Given the description of an element on the screen output the (x, y) to click on. 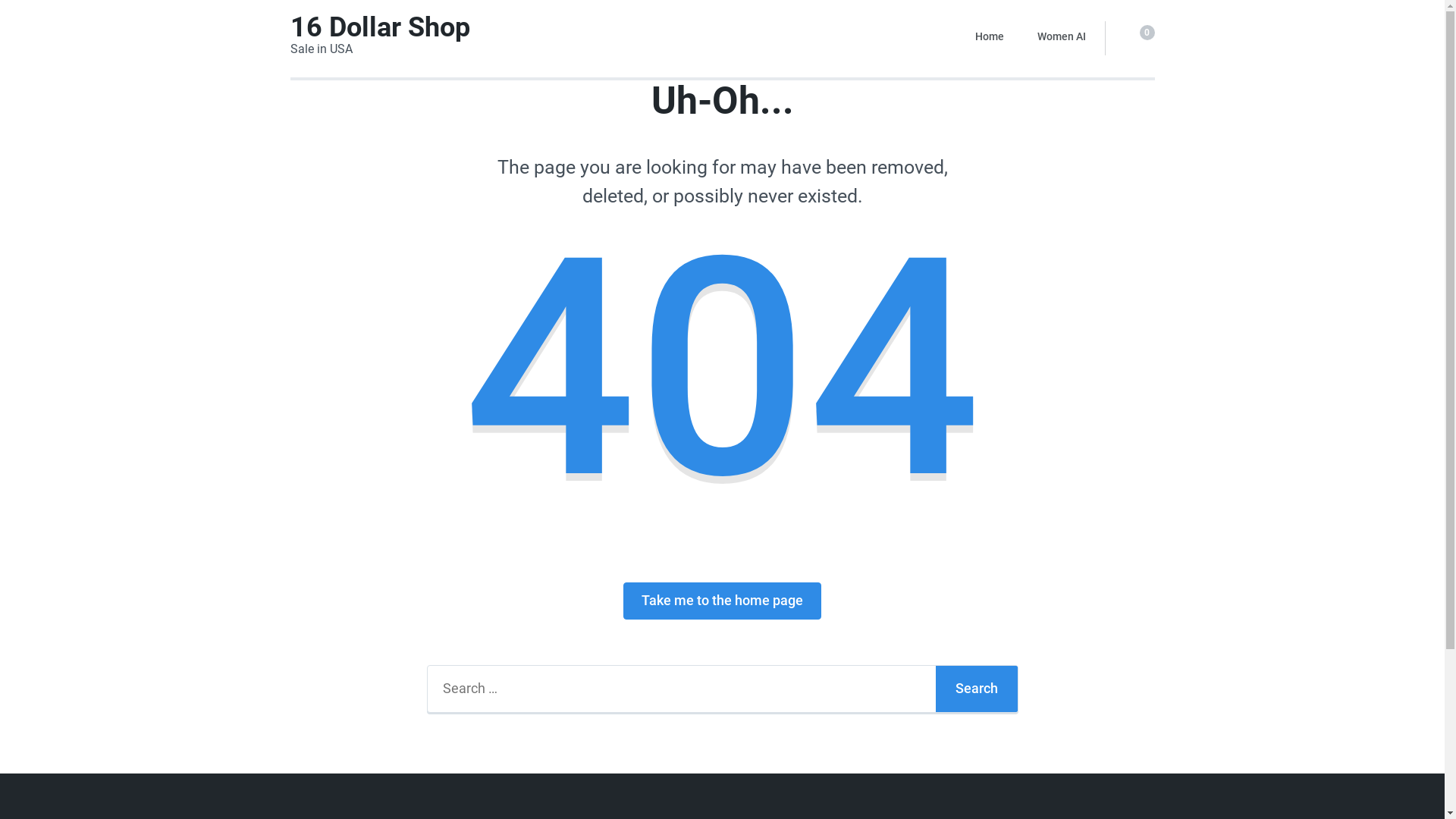
Women AI Element type: text (1061, 36)
Search Element type: text (976, 688)
Home Element type: text (989, 36)
Take me to the home page Element type: text (722, 600)
16 Dollar Shop Element type: text (379, 27)
